Given the description of an element on the screen output the (x, y) to click on. 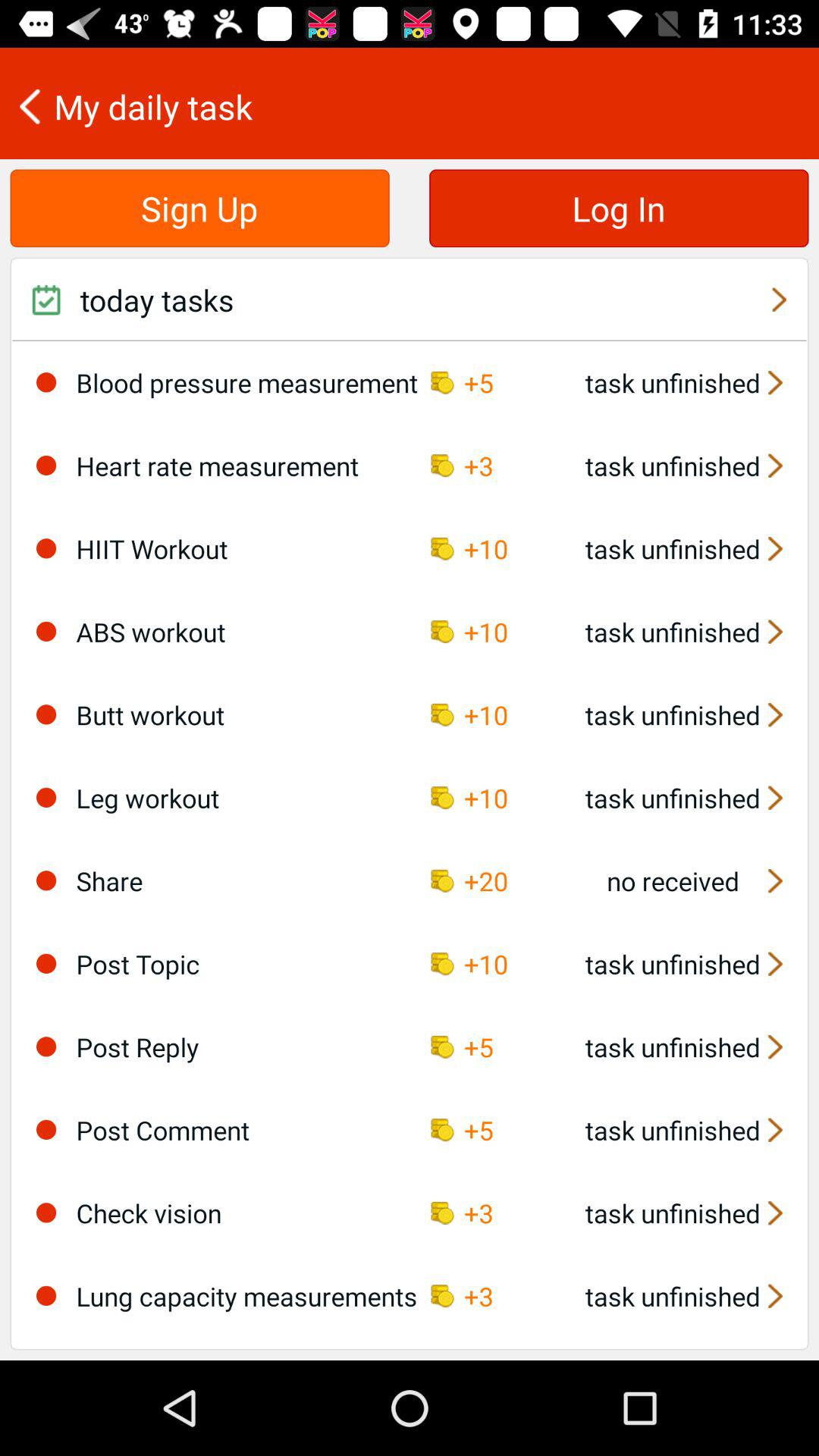
tap icon below the my daily task item (199, 208)
